Given the description of an element on the screen output the (x, y) to click on. 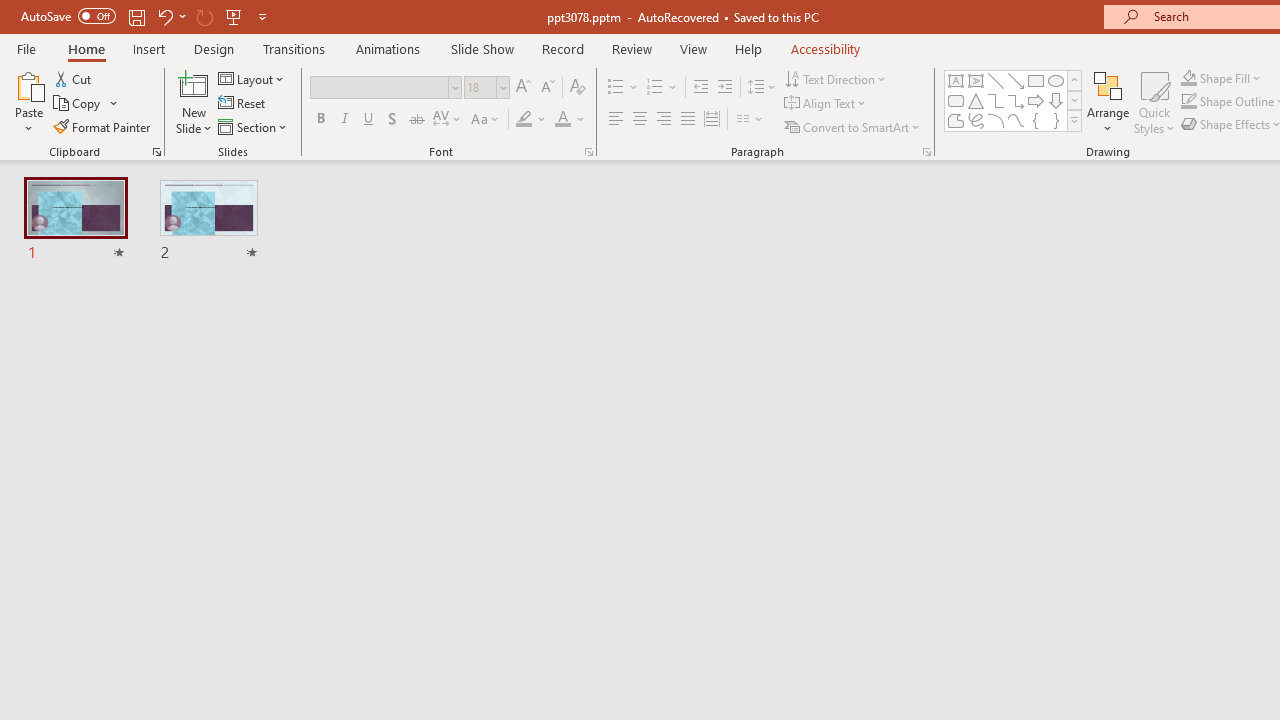
Accessibility (825, 48)
Paste (28, 84)
Animations (388, 48)
Line Spacing (762, 87)
Increase Font Size (522, 87)
Paste (28, 102)
Layout (252, 78)
Font Color (569, 119)
Review (631, 48)
Slide (208, 221)
Copy (85, 103)
Open (502, 87)
Copy (78, 103)
New Slide (193, 84)
